Given the description of an element on the screen output the (x, y) to click on. 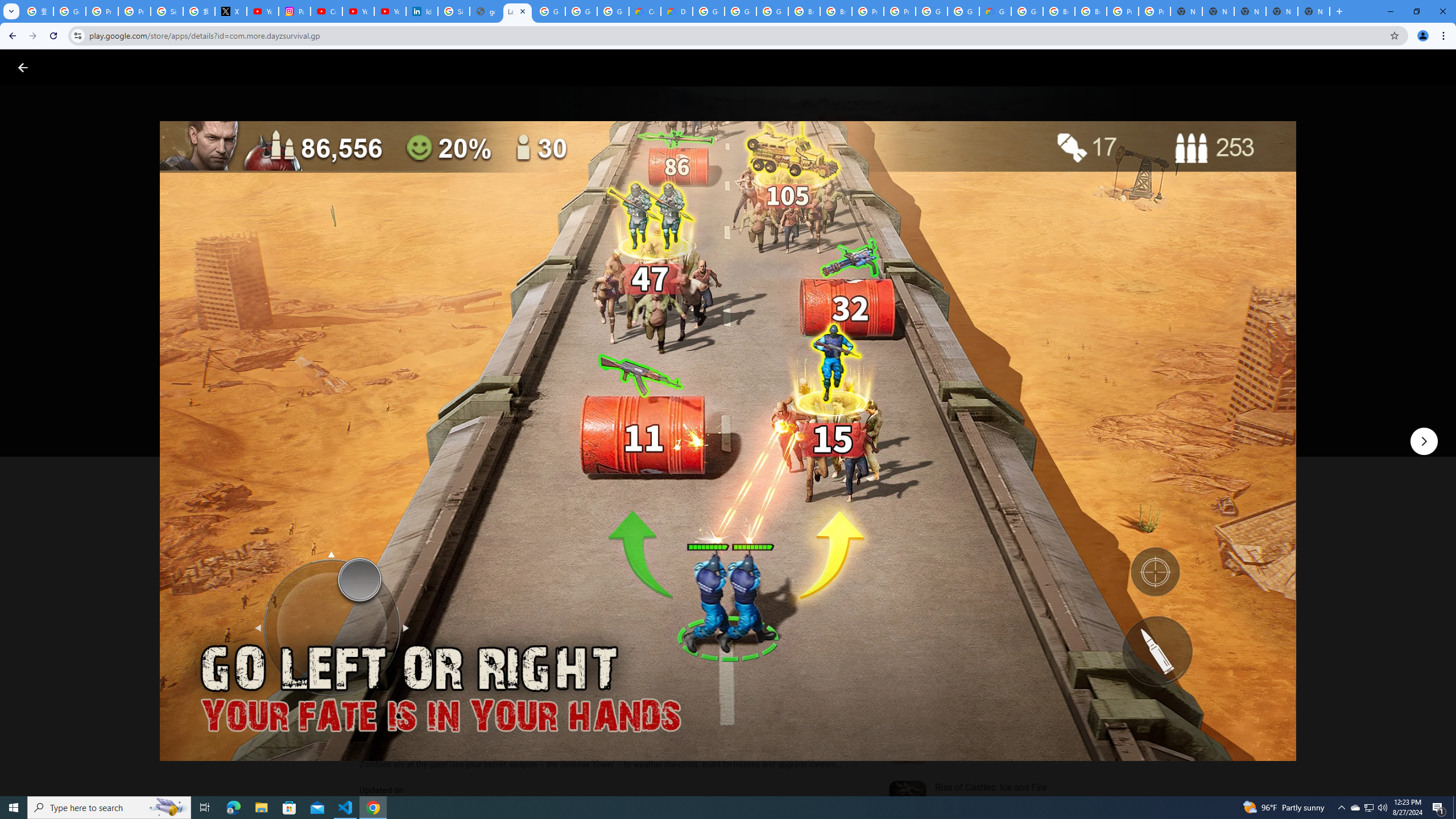
See more information on About this game (472, 681)
Screenshot image (817, 563)
Expand (978, 497)
Kids (219, 67)
Browse Chrome as a guest - Computer - Google Chrome Help (1059, 11)
Open account menu (1436, 67)
More info about this content rating (575, 385)
